Given the description of an element on the screen output the (x, y) to click on. 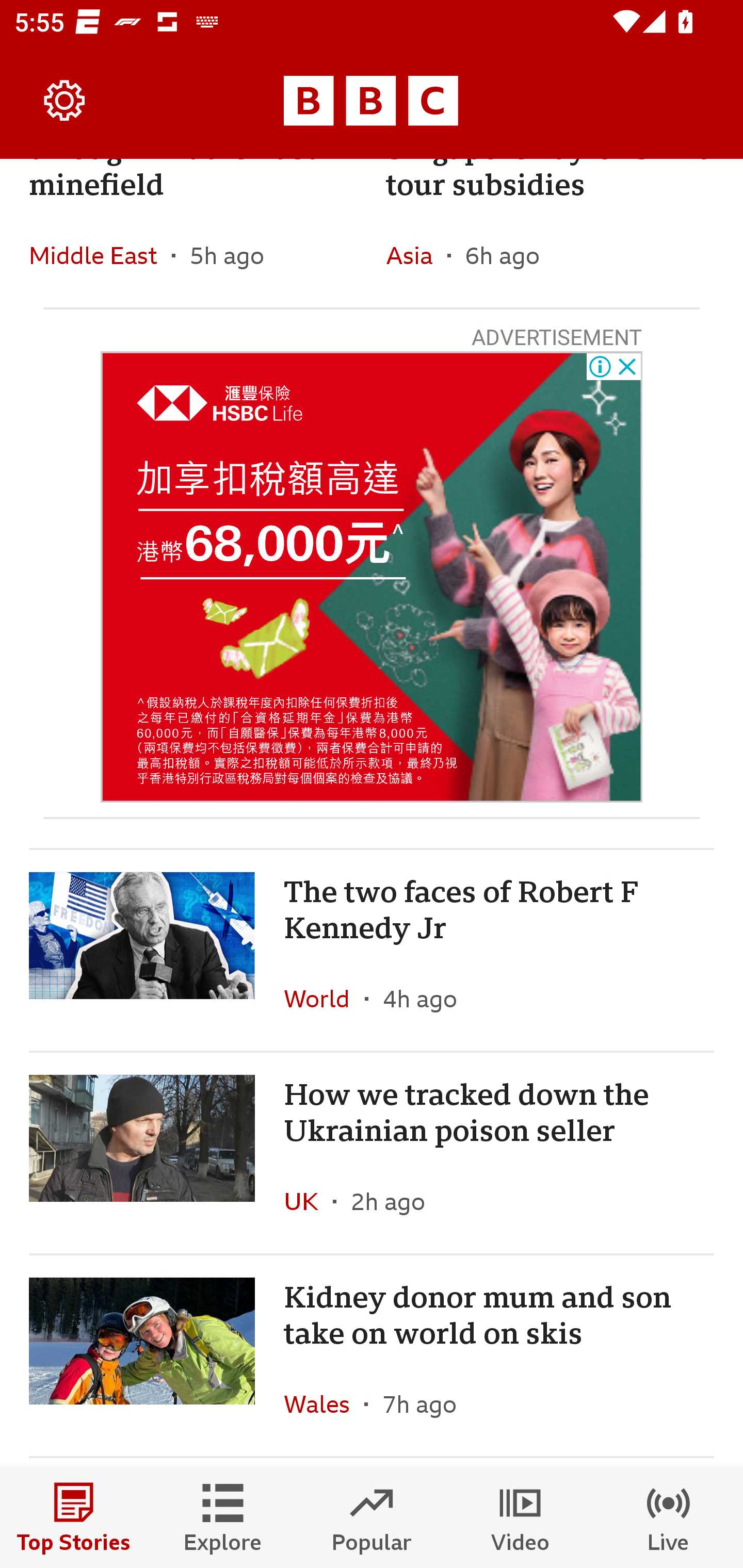
Settings (64, 100)
Middle East In the section Middle East (99, 255)
Asia In the section Asia (416, 255)
HSBC javascript:window.open(window (371, 576)
World In the section World (323, 998)
UK In the section UK (307, 1200)
Wales In the section Wales (323, 1403)
Explore (222, 1517)
Popular (371, 1517)
Video (519, 1517)
Live (668, 1517)
